Given the description of an element on the screen output the (x, y) to click on. 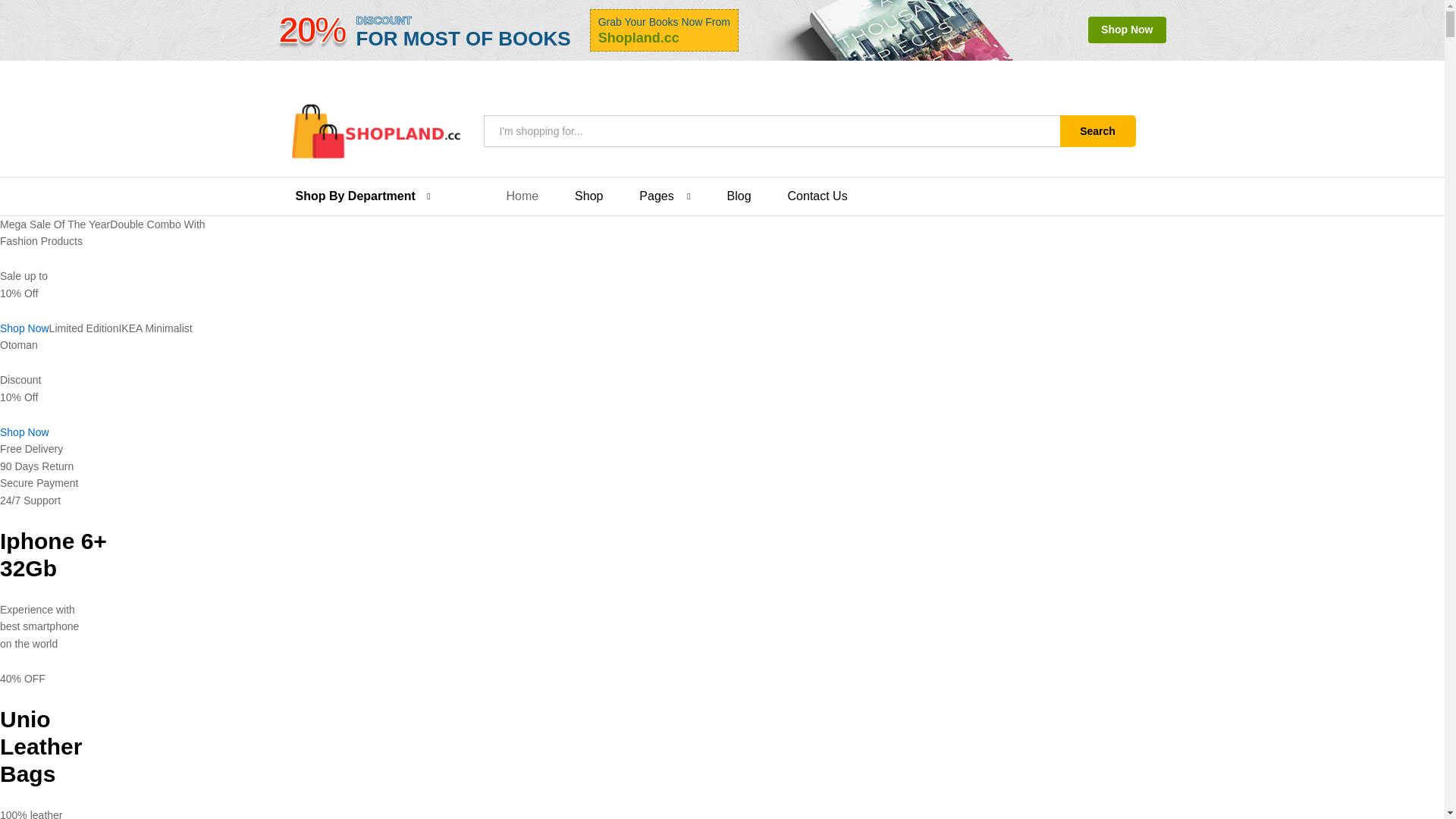
Pages (655, 196)
Shop Now (24, 431)
Shop Now (24, 328)
Contact Us (817, 196)
Search (1097, 131)
Shop Now (1126, 29)
Home (522, 196)
Blog (738, 196)
Shop (588, 196)
